Given the description of an element on the screen output the (x, y) to click on. 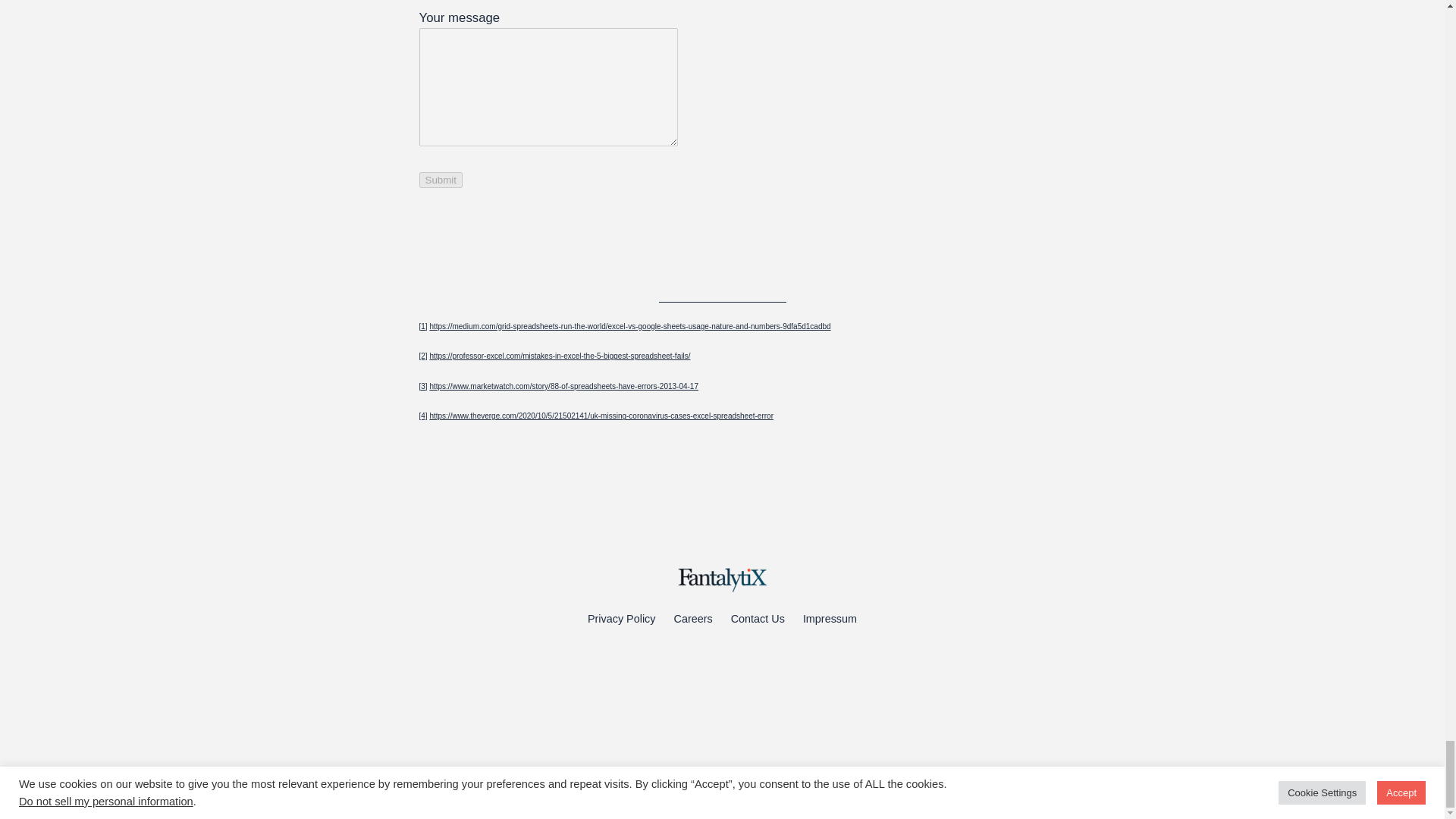
Submit (440, 179)
Privacy Policy (622, 618)
Contact Us (757, 618)
Careers (691, 618)
Submit (440, 179)
Impressum (830, 618)
